Given the description of an element on the screen output the (x, y) to click on. 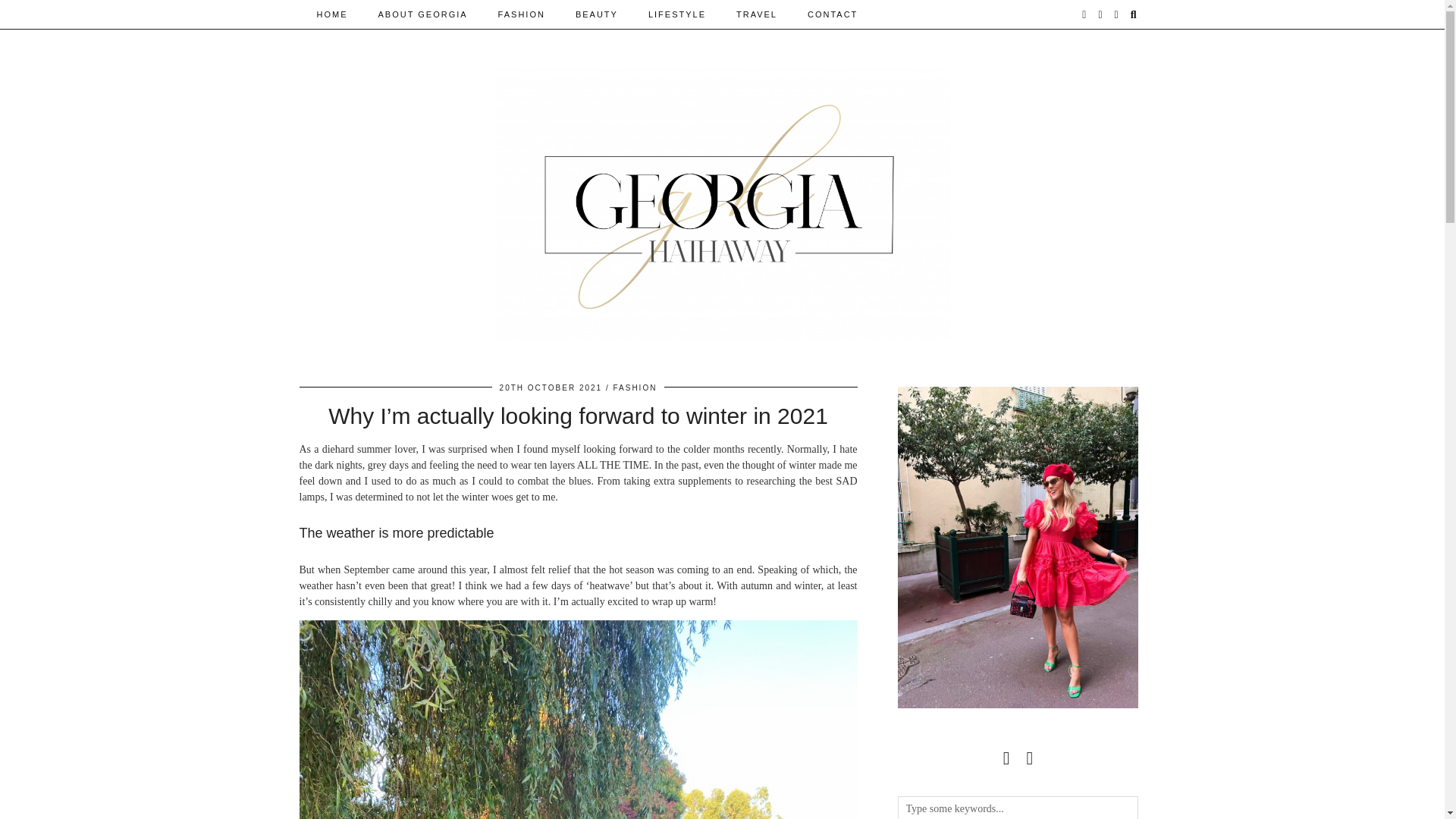
HOME (331, 14)
ABOUT GEORGIA (421, 14)
FASHION (521, 14)
FASHION (634, 388)
TRAVEL (756, 14)
CONTACT (832, 14)
LIFESTYLE (676, 14)
BEAUTY (596, 14)
